Given the description of an element on the screen output the (x, y) to click on. 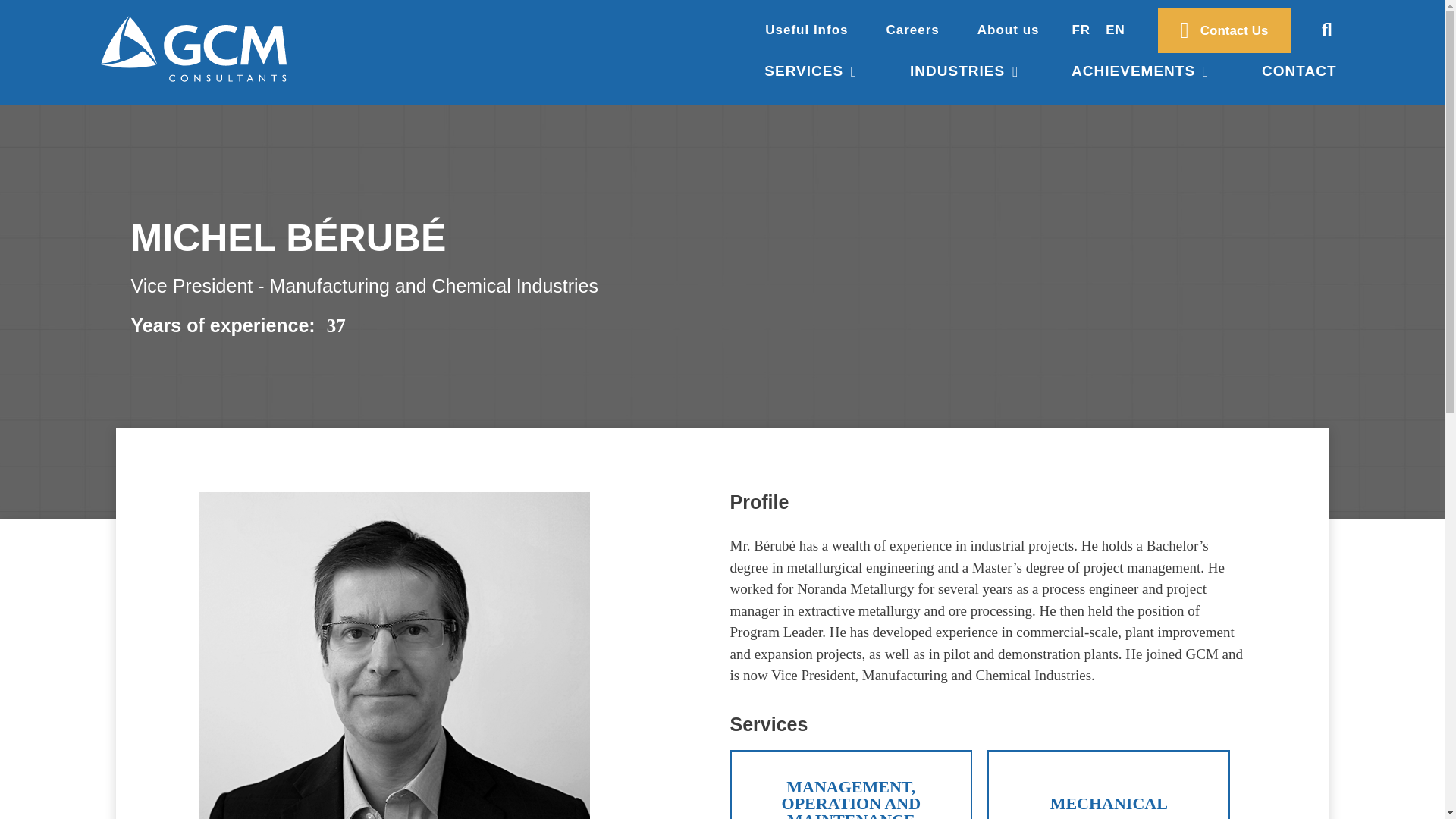
SERVICES (784, 71)
Careers (912, 30)
EN (1114, 29)
Contact Us (1224, 30)
Useful Infos (806, 30)
About us (1007, 30)
FR (1080, 29)
